Given the description of an element on the screen output the (x, y) to click on. 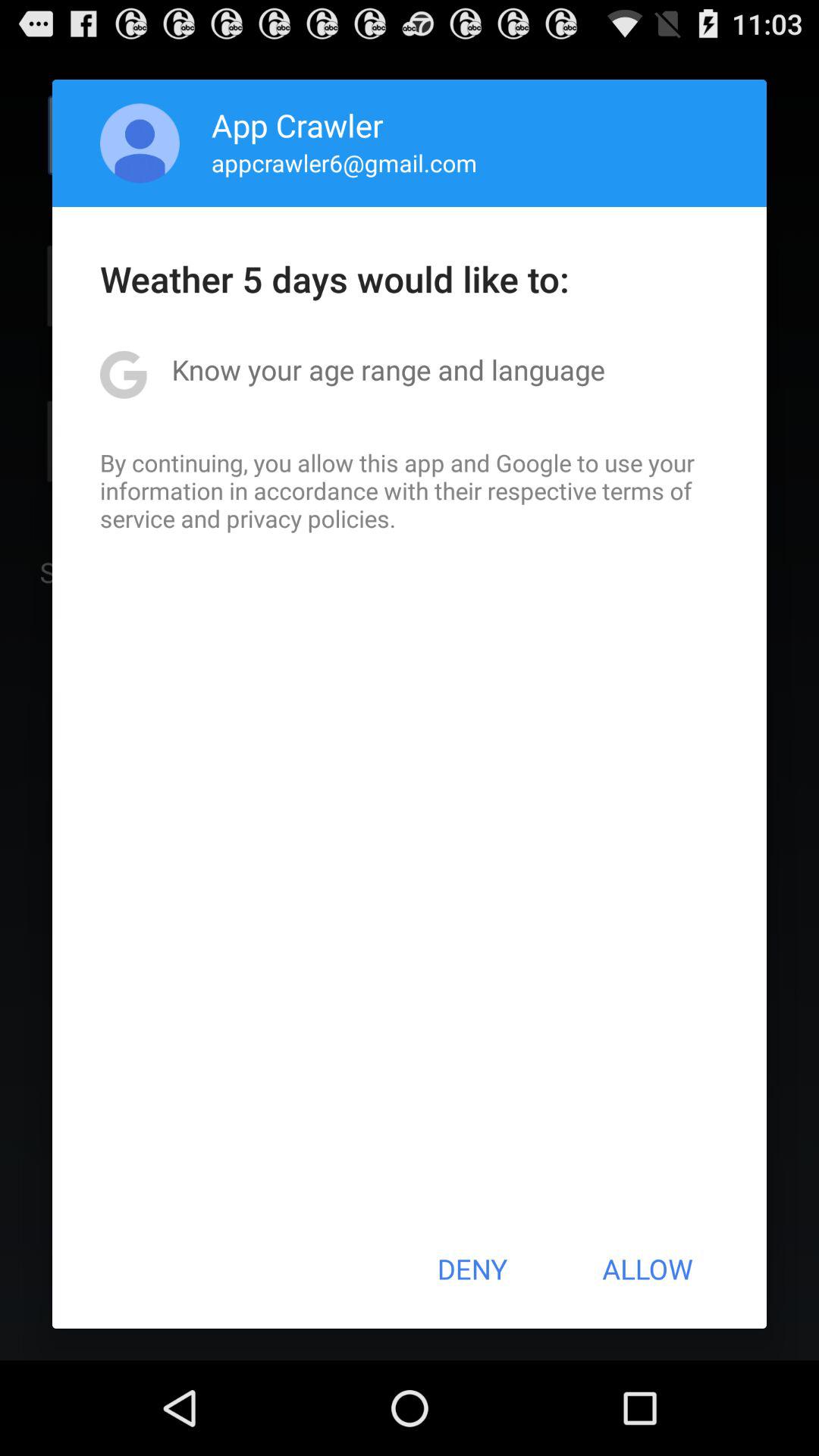
jump to deny button (471, 1268)
